Given the description of an element on the screen output the (x, y) to click on. 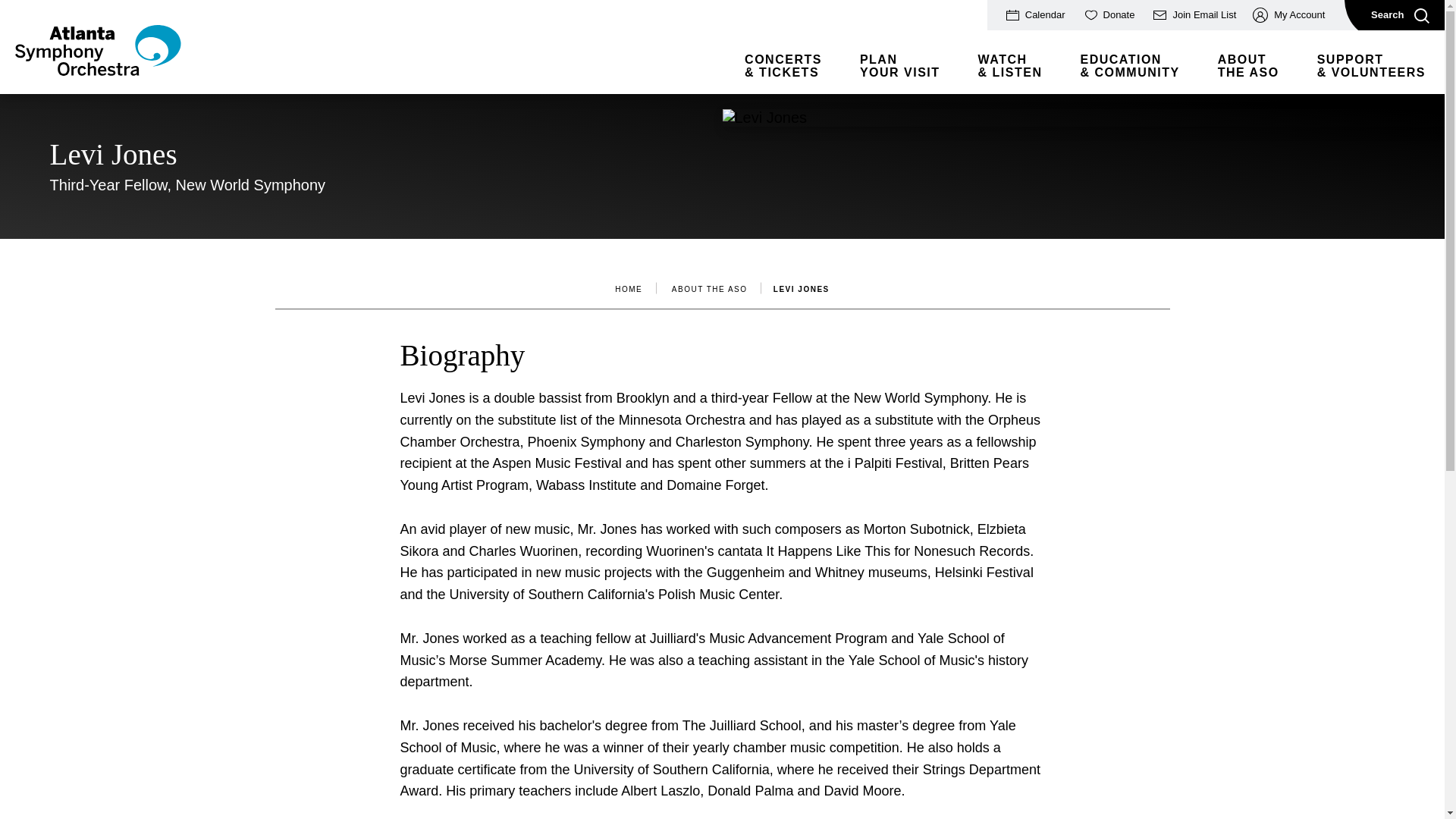
My Account (1287, 15)
Calendar (1033, 15)
Donate (1107, 15)
Atlanta Symphony Orchestra (97, 70)
Join Email List (1192, 15)
